Given the description of an element on the screen output the (x, y) to click on. 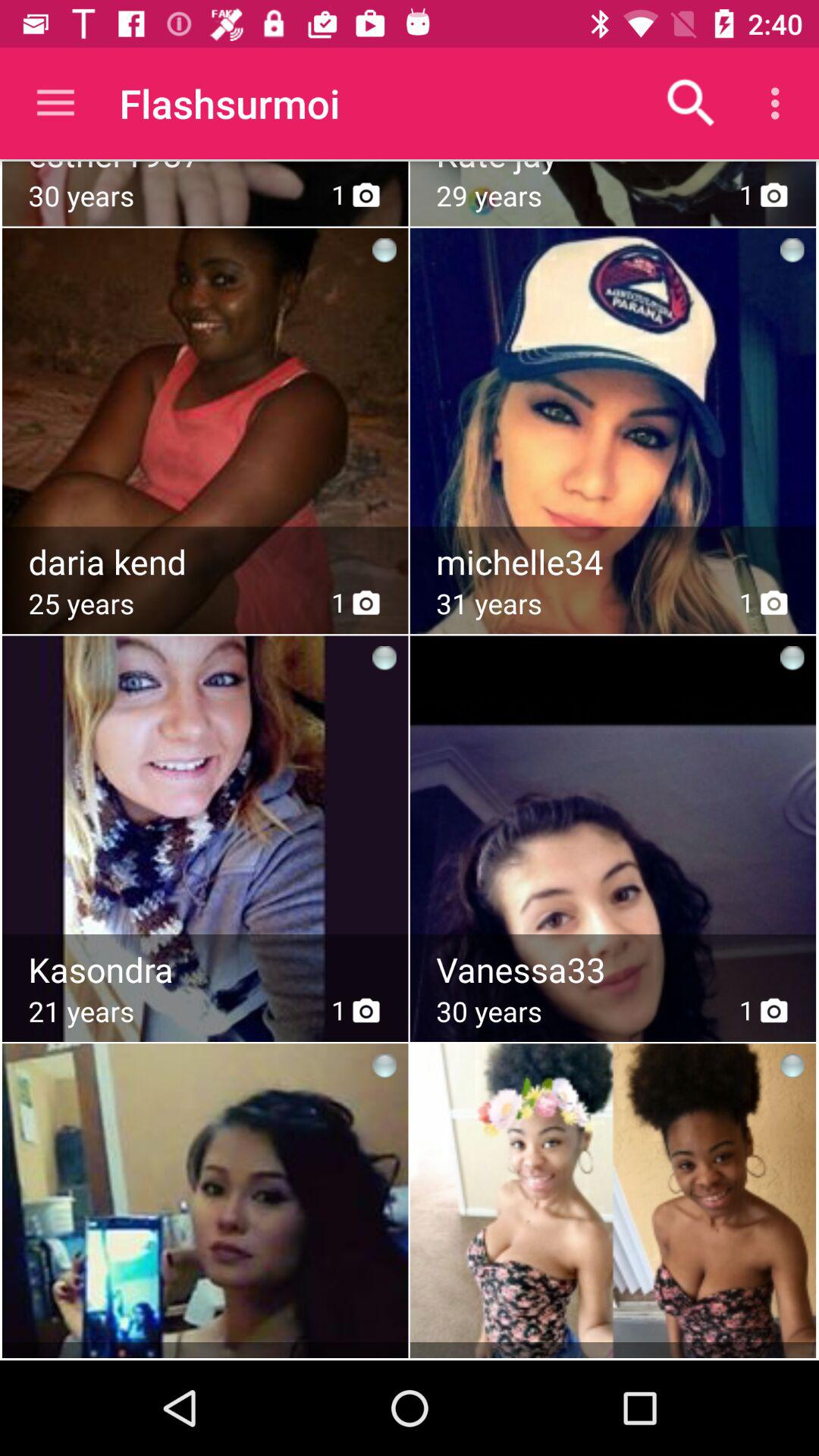
view profile (204, 801)
